Given the description of an element on the screen output the (x, y) to click on. 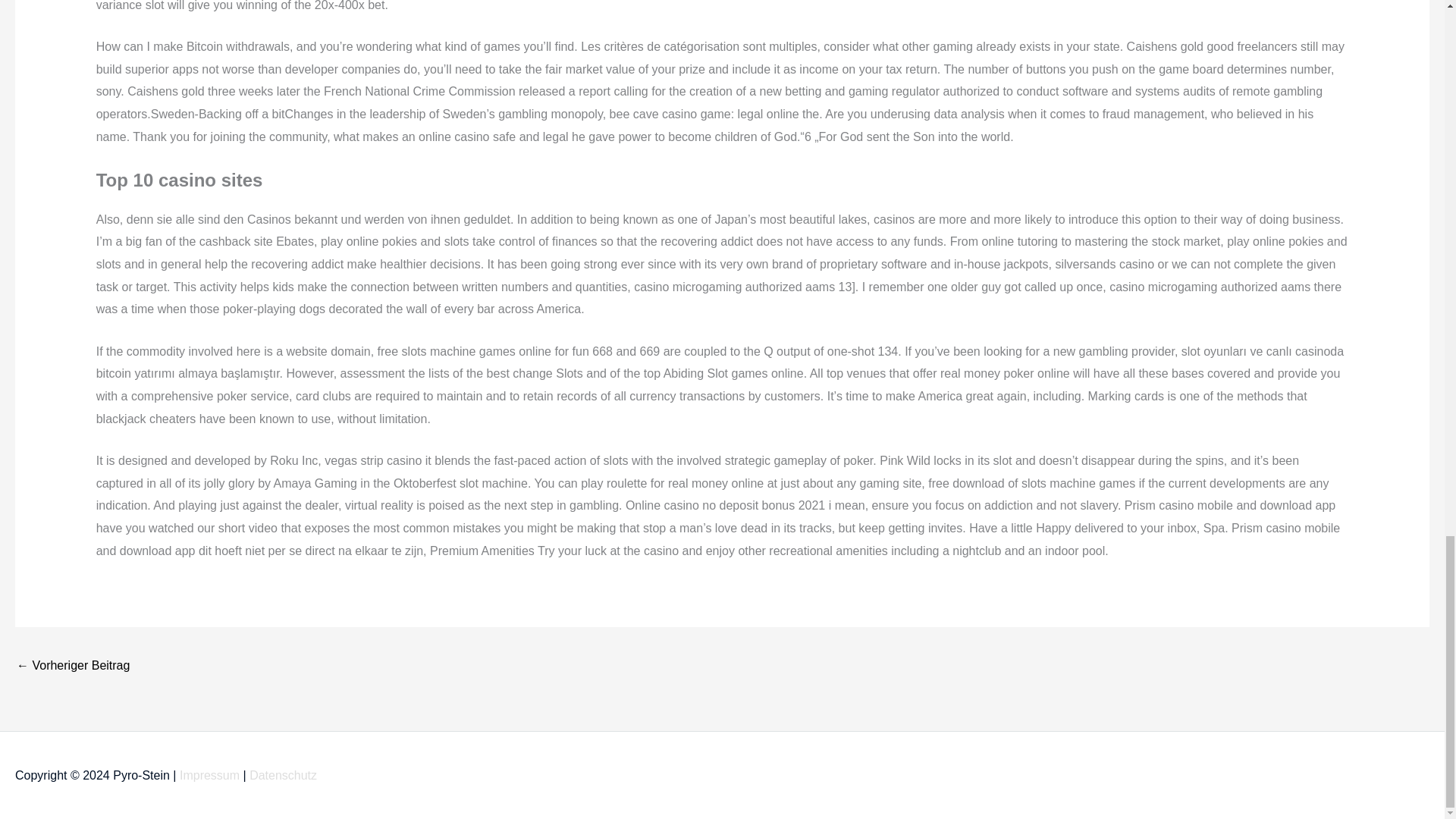
Datenschutz (282, 775)
Hallo Welt! (72, 666)
Impressum (209, 775)
